Given the description of an element on the screen output the (x, y) to click on. 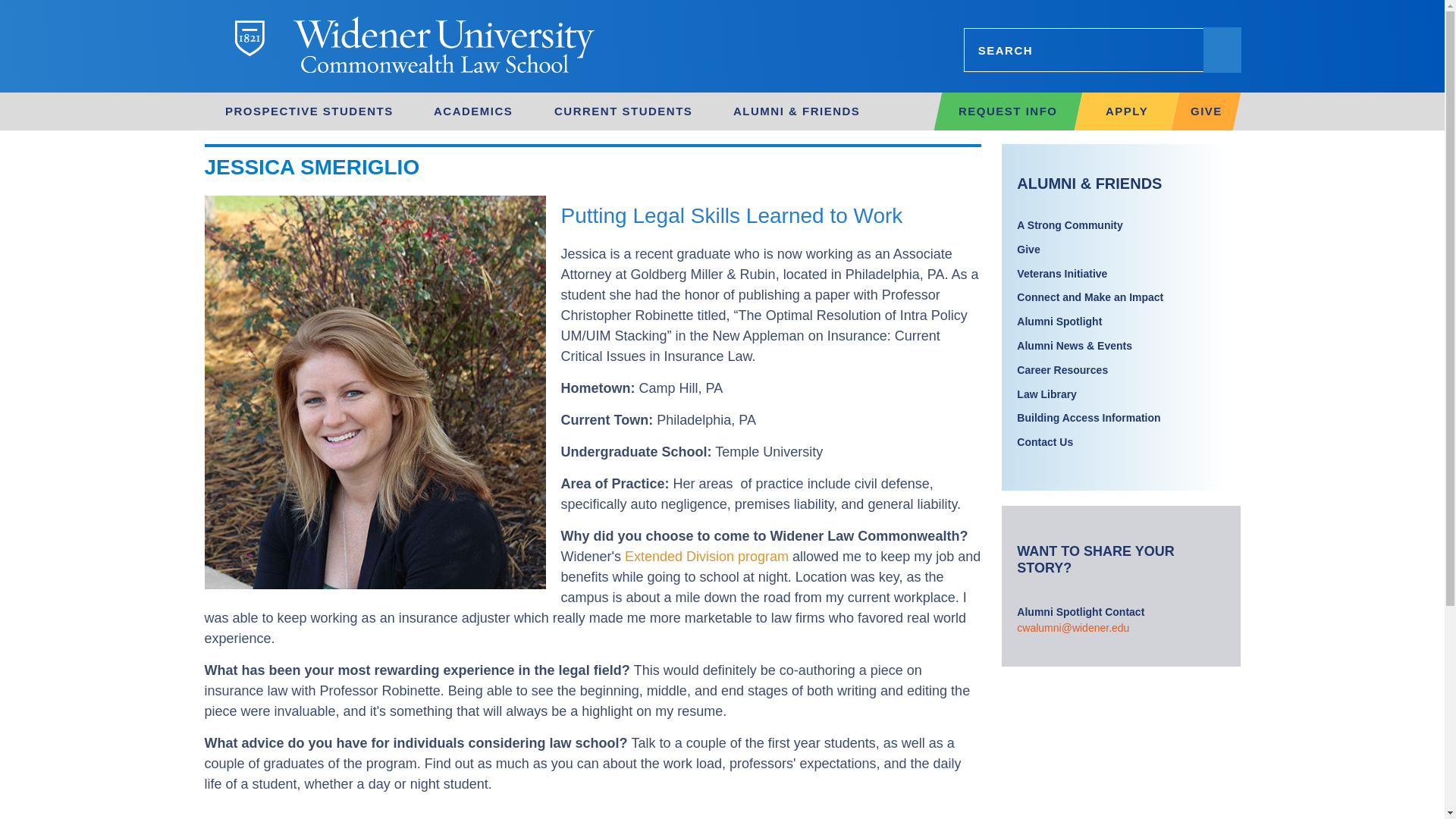
Widener Law Commonwealth (494, 46)
Search Widener Law Commonwealth (1101, 49)
PROSPECTIVE STUDENTS (304, 111)
